Given the description of an element on the screen output the (x, y) to click on. 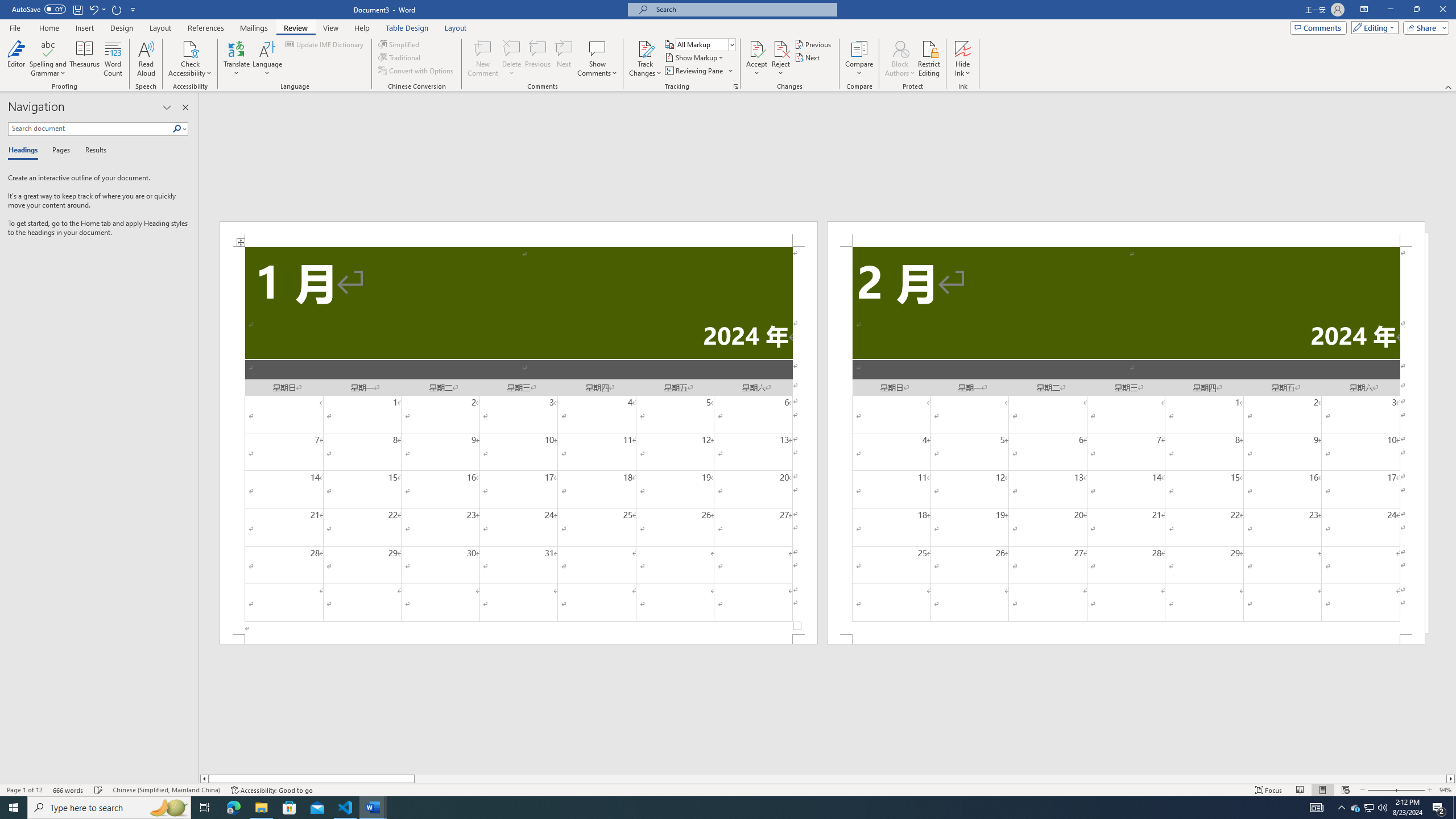
Page right (929, 778)
Show Comments (597, 48)
Footer -Section 2- (1126, 638)
Language (267, 58)
